Given the description of an element on the screen output the (x, y) to click on. 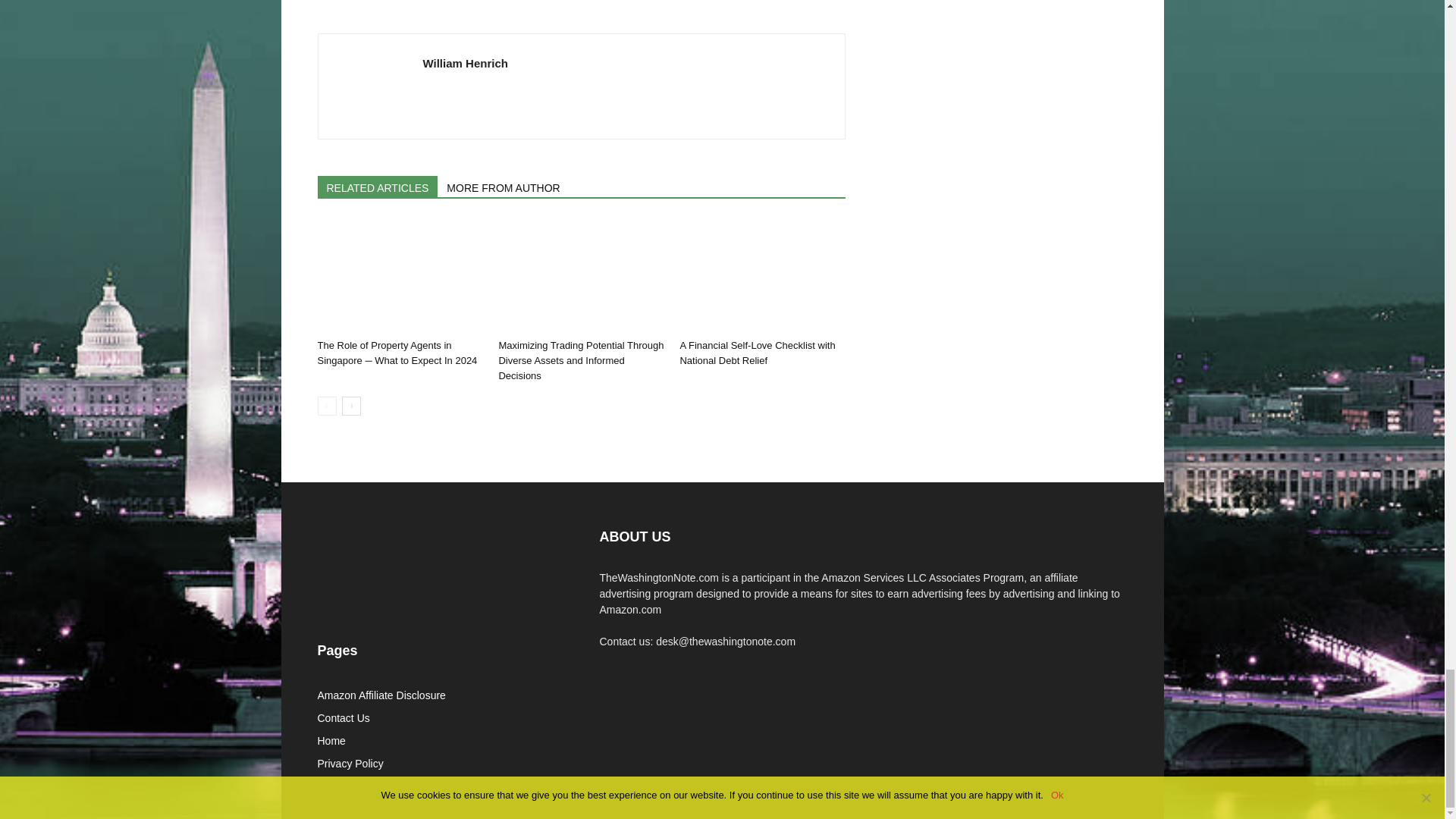
A Financial Self-Love Checklist with National Debt Relief (761, 275)
A Financial Self-Love Checklist with National Debt Relief (756, 352)
